Given the description of an element on the screen output the (x, y) to click on. 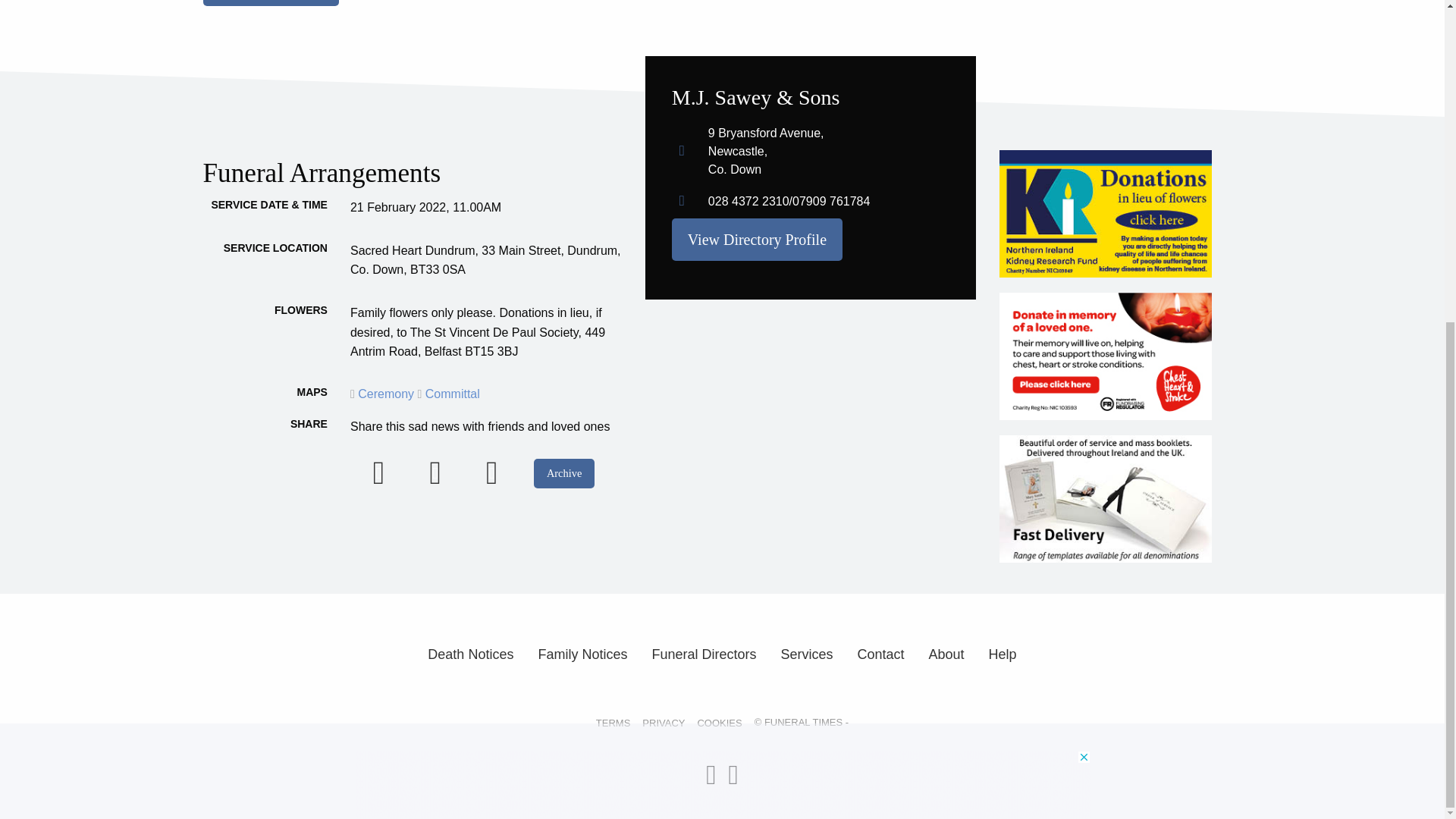
Archive (564, 473)
3rd party ad content (722, 260)
View Directory Profile (757, 239)
Leave a Sympathy Notice (271, 2)
Ceremony (383, 393)
Committal (447, 393)
